Given the description of an element on the screen output the (x, y) to click on. 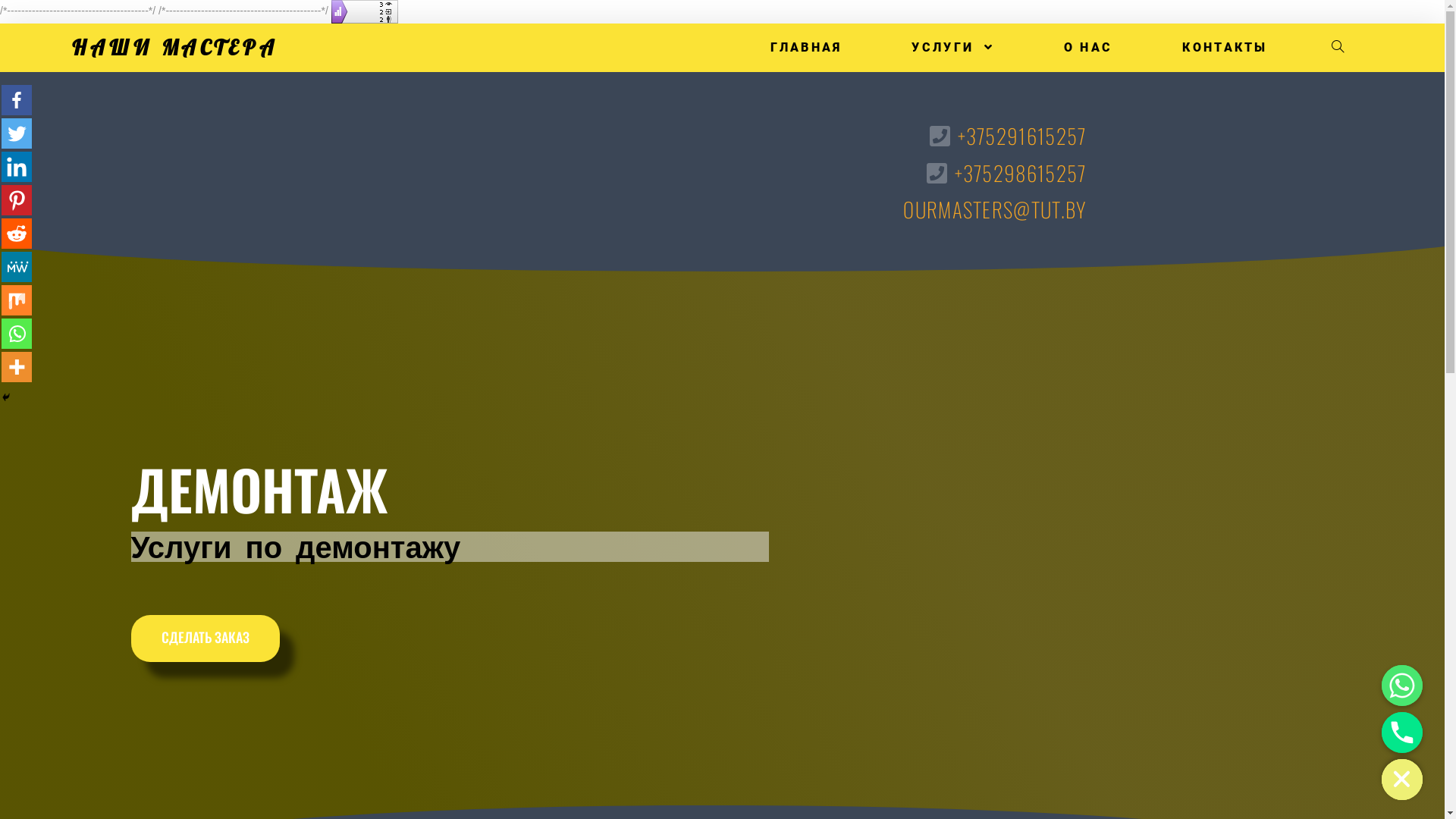
Linkedin Element type: hover (16, 166)
Twitter Element type: hover (16, 133)
https://ourmasters.by/ Element type: text (176, 718)
MeWe Element type: hover (162, 56)
Facebook Element type: hover (14, 56)
Pinterest Element type: hover (16, 200)
ourmasters@tut.by Element type: text (169, 673)
Twitter Element type: hover (44, 56)
Mix Element type: hover (16, 300)
Whatsapp Element type: hover (16, 333)
Linkedin Element type: hover (73, 56)
Pinterest Element type: hover (103, 56)
Reddit Element type: hover (16, 233)
Whatsapp Element type: hover (221, 56)
Reddit Element type: hover (132, 56)
More Element type: hover (16, 366)
Facebook Element type: hover (16, 99)
MeWe Element type: hover (16, 266)
More Element type: hover (251, 56)
Mix Element type: hover (191, 56)
Hide Element type: hover (6, 397)
